Given the description of an element on the screen output the (x, y) to click on. 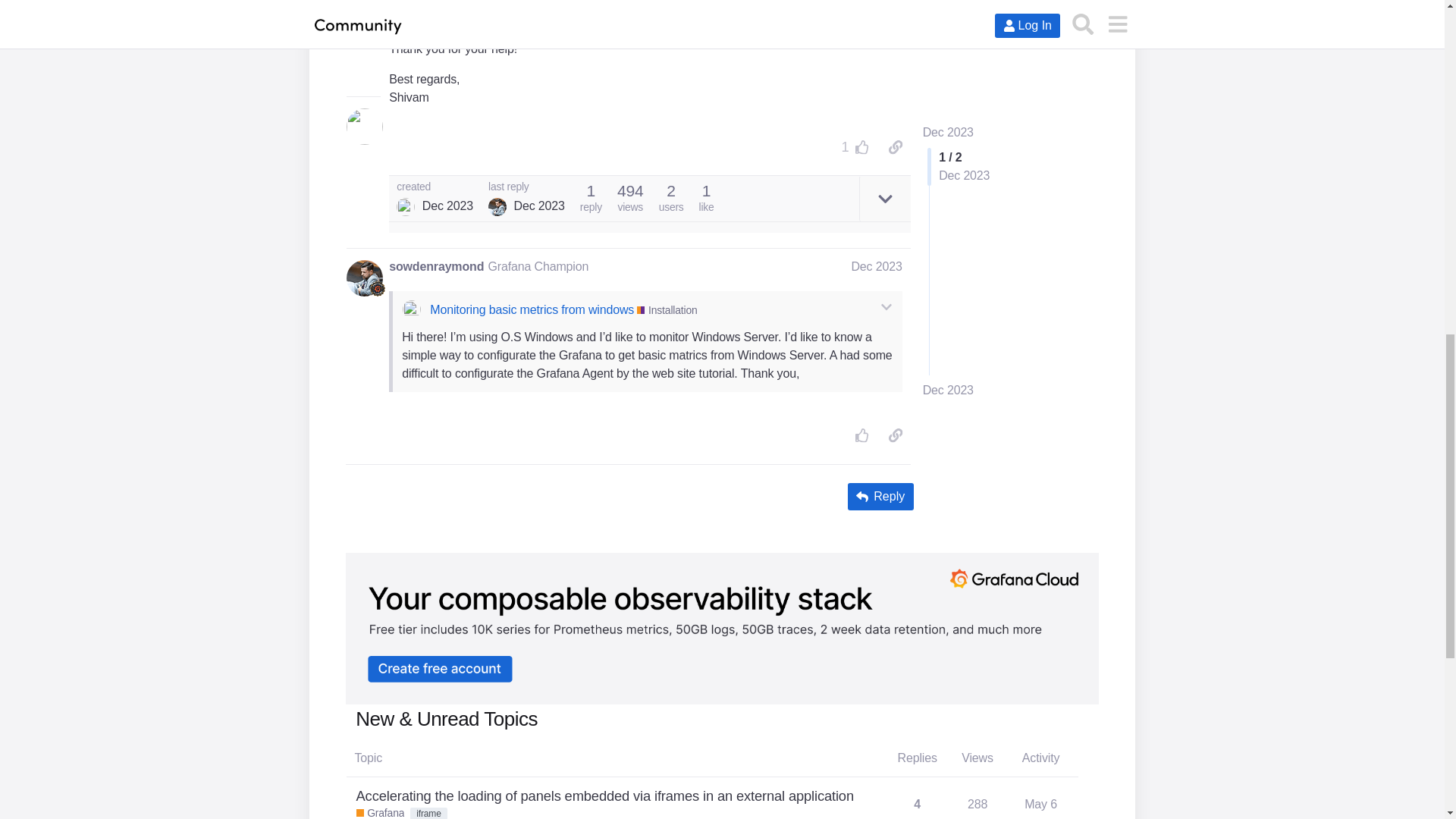
Please sign up or log in to like this post (862, 146)
sowdenraymond (435, 266)
Monitoring basic metrics from windows (531, 309)
last reply (525, 186)
expand topic details (885, 198)
copy a link to this post to clipboard (895, 146)
Dec 2023 (875, 266)
Installation (667, 310)
